Given the description of an element on the screen output the (x, y) to click on. 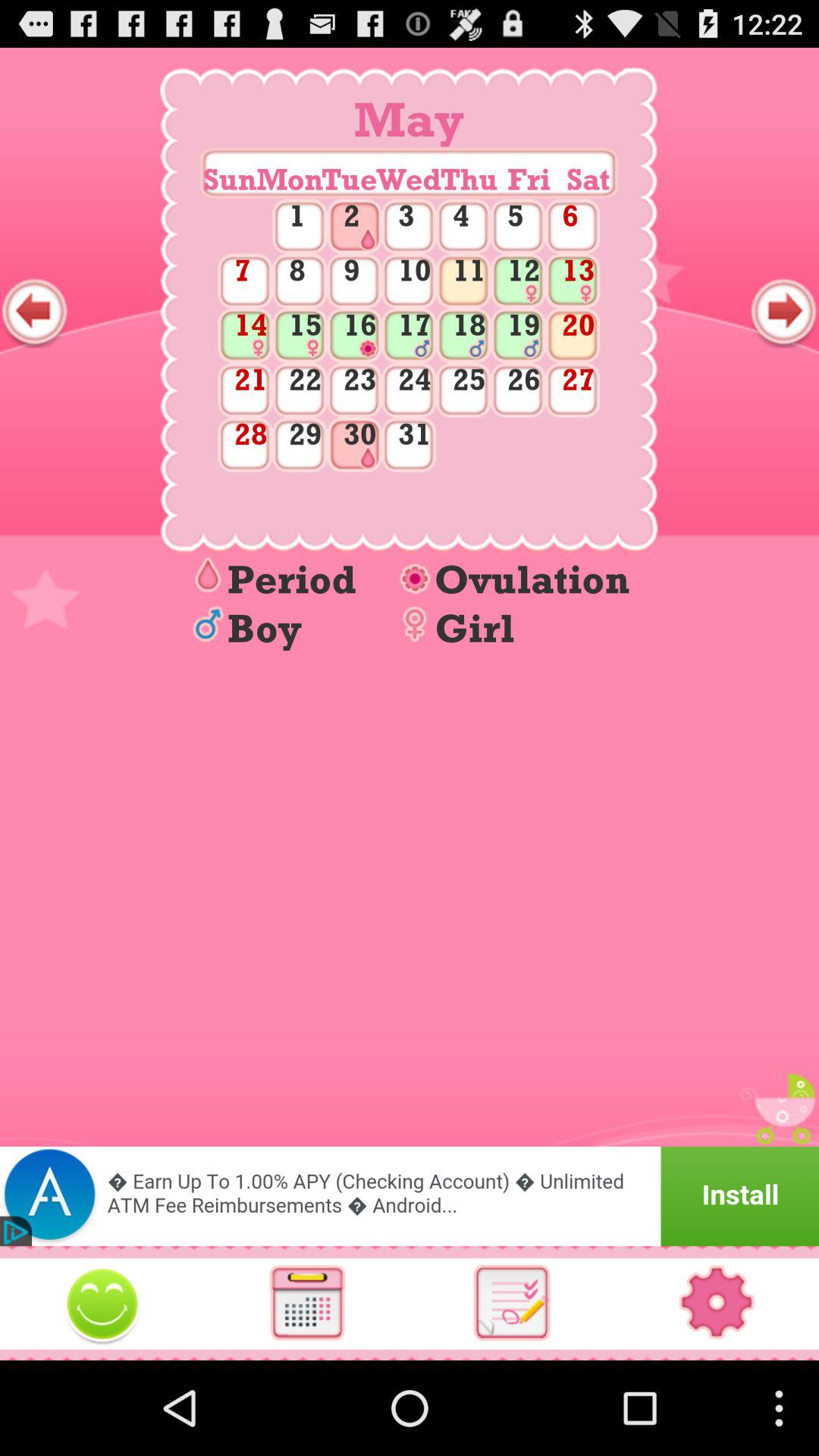
go to back (34, 311)
